Given the description of an element on the screen output the (x, y) to click on. 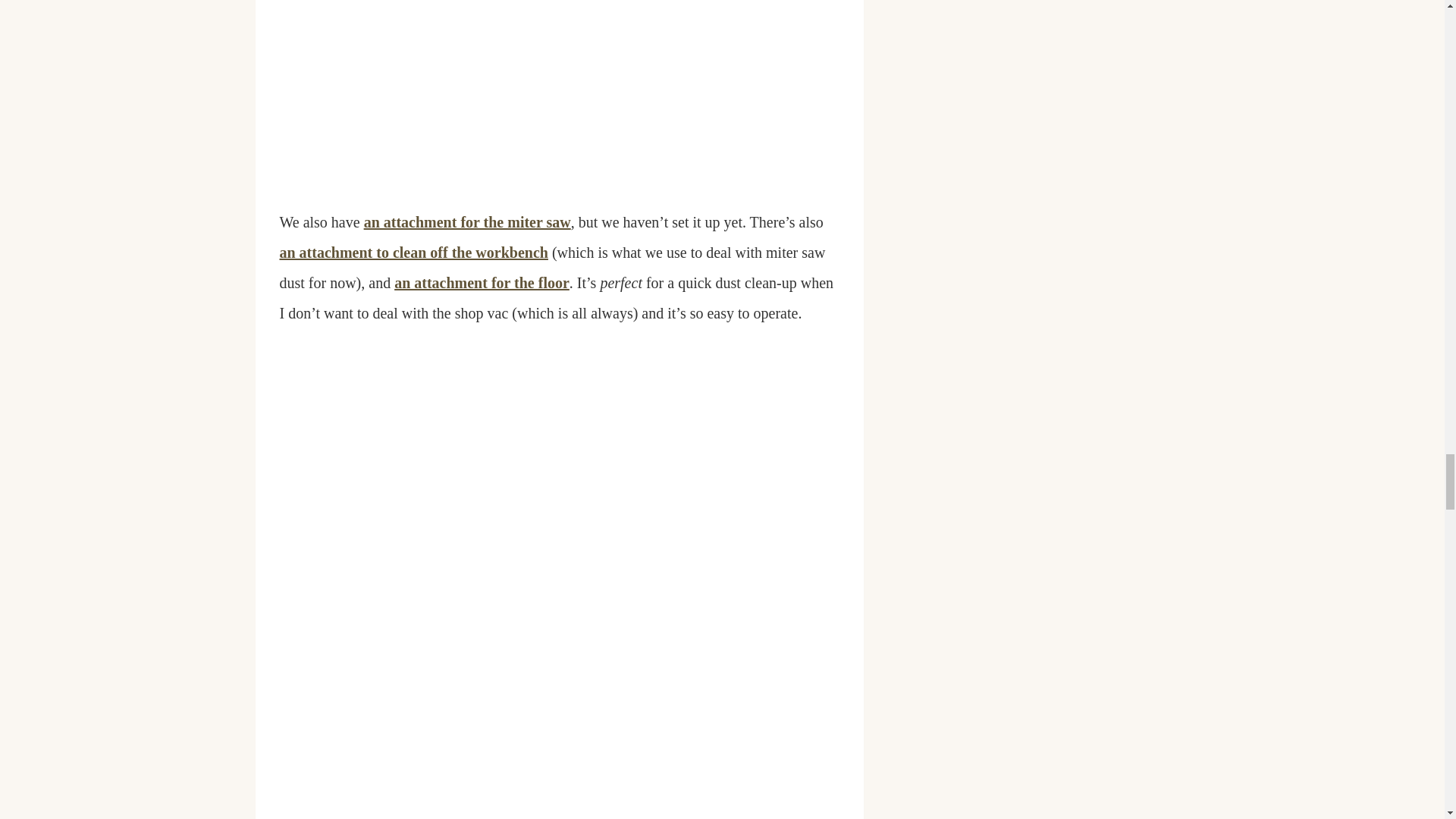
an attachment to clean off the workbench (413, 252)
an attachment for the miter saw (467, 221)
an attachment for the floor (481, 282)
